Given the description of an element on the screen output the (x, y) to click on. 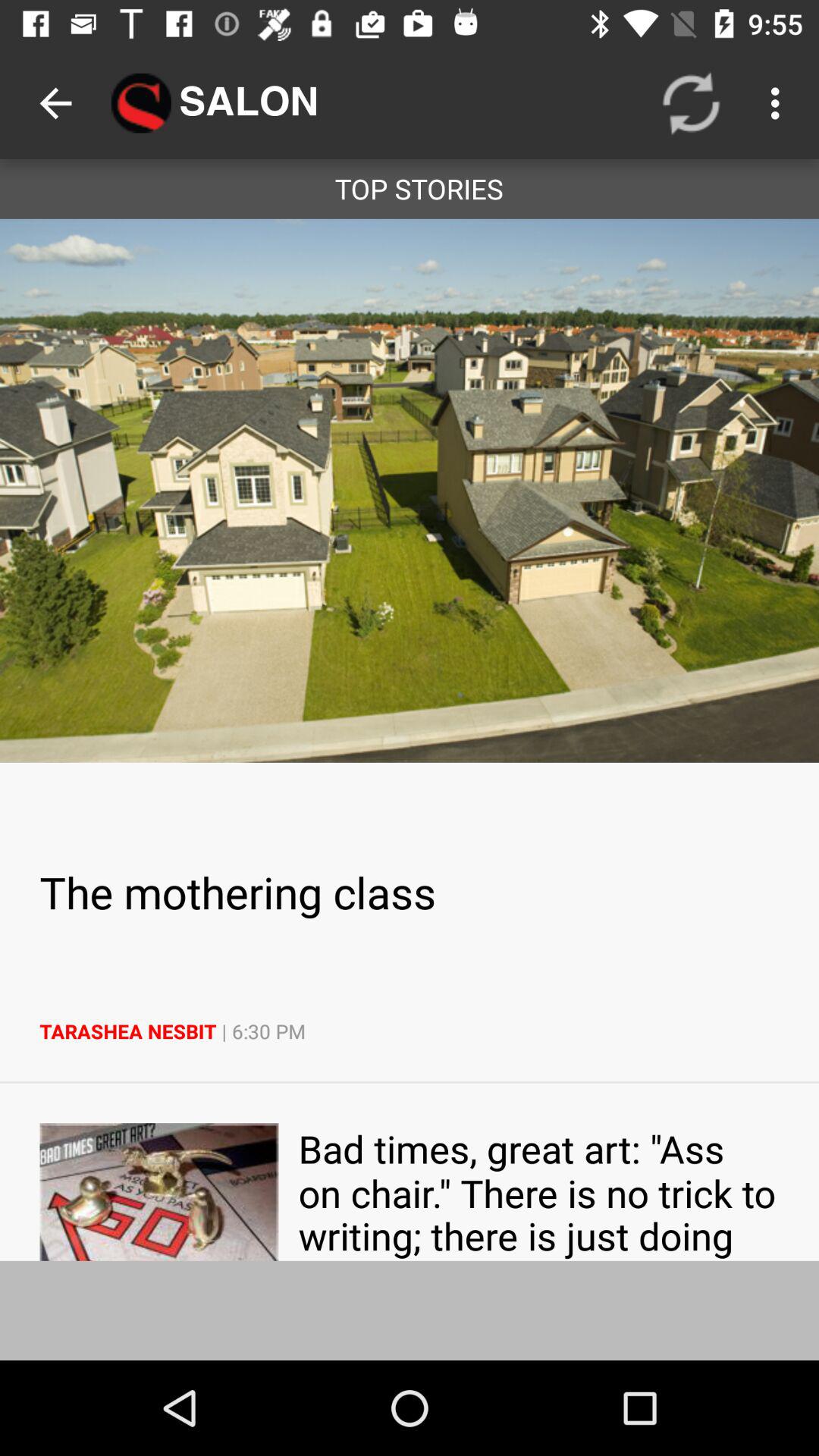
scroll to the mothering class item (409, 891)
